Given the description of an element on the screen output the (x, y) to click on. 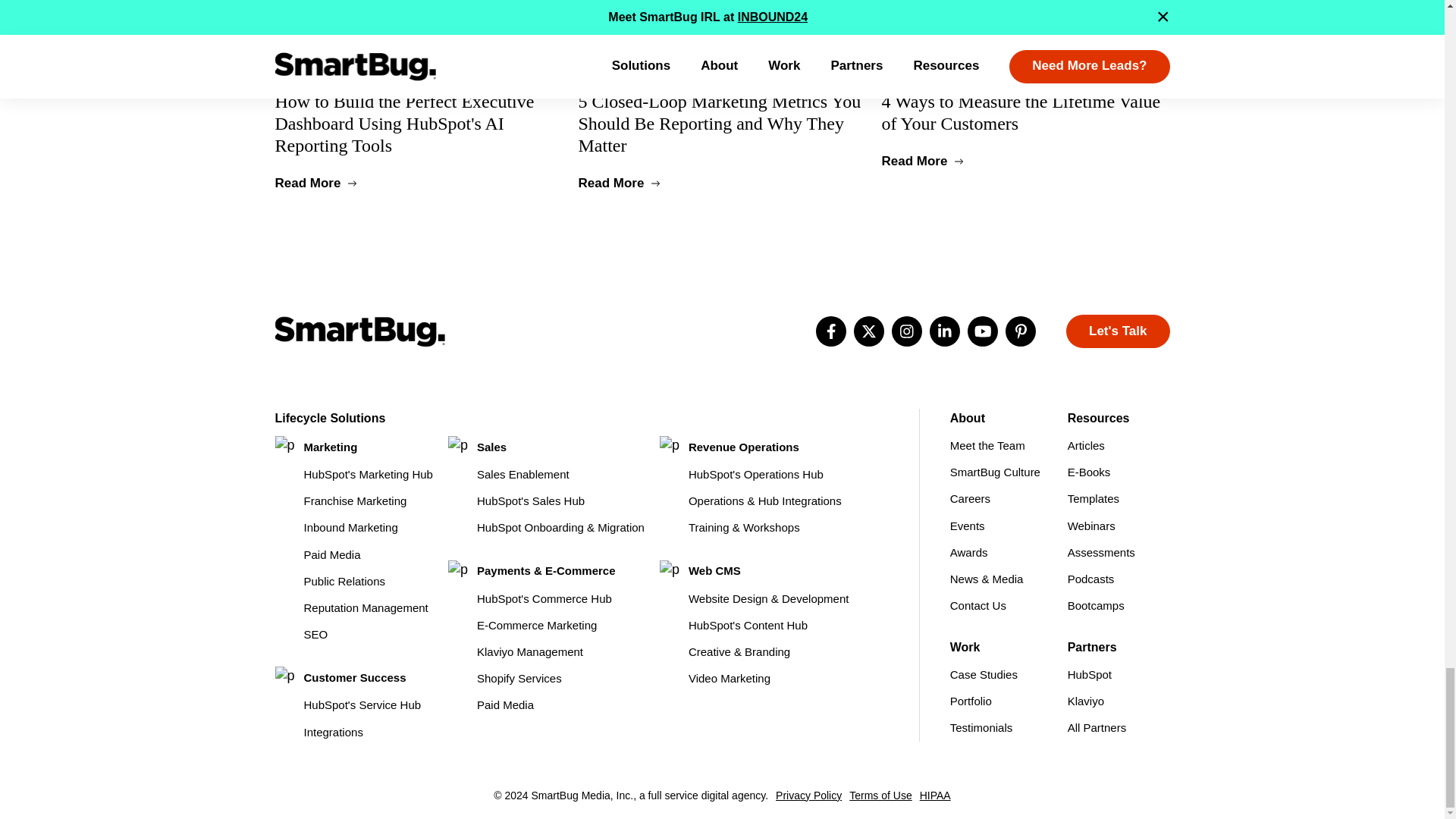
Let's Talk (1117, 331)
